Given the description of an element on the screen output the (x, y) to click on. 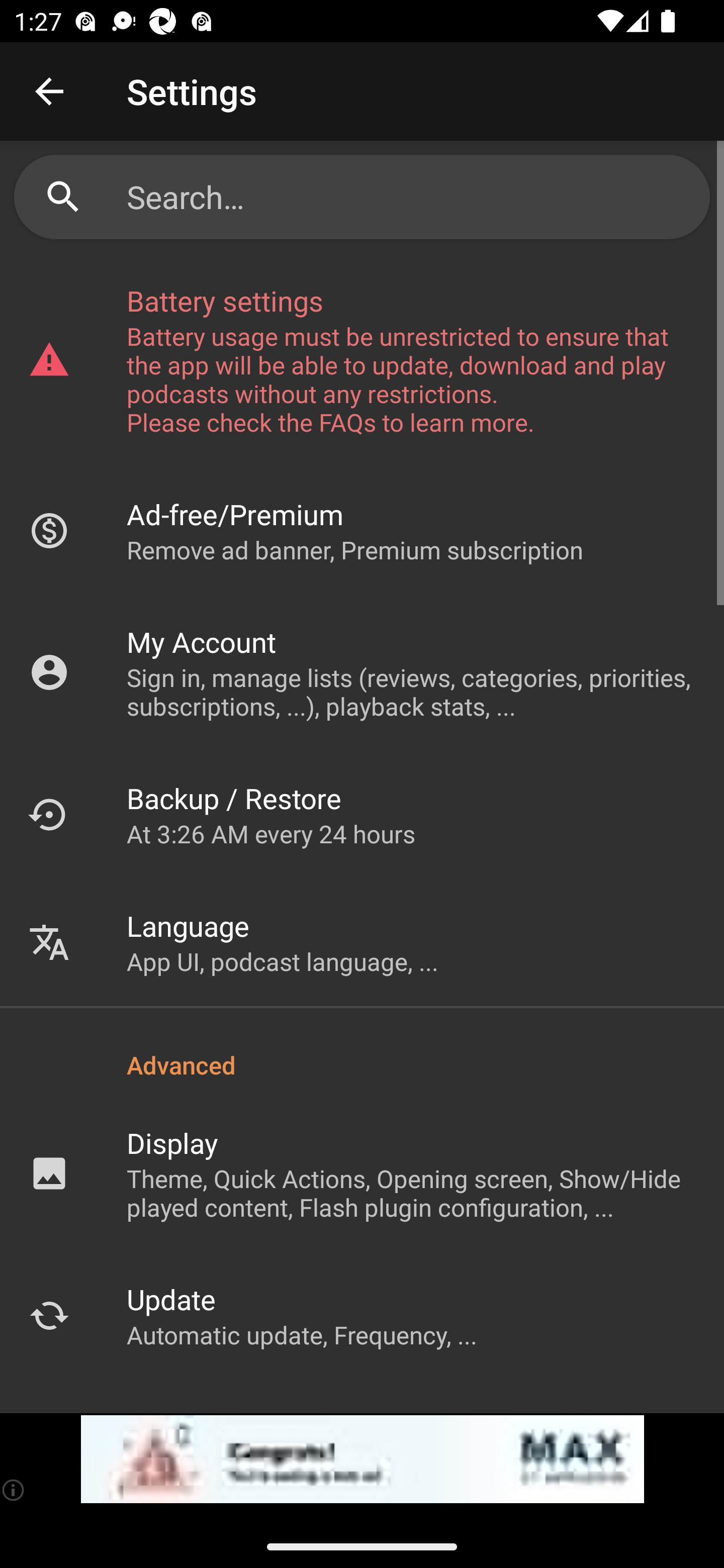
Navigate up (49, 91)
Search… (361, 197)
Search… (410, 196)
Backup / Restore At 3:26 AM every 24 hours (362, 814)
Language App UI, podcast language, ... (362, 942)
Update Automatic update, Frequency, ... (362, 1315)
app-monetization (362, 1459)
(i) (14, 1489)
